Given the description of an element on the screen output the (x, y) to click on. 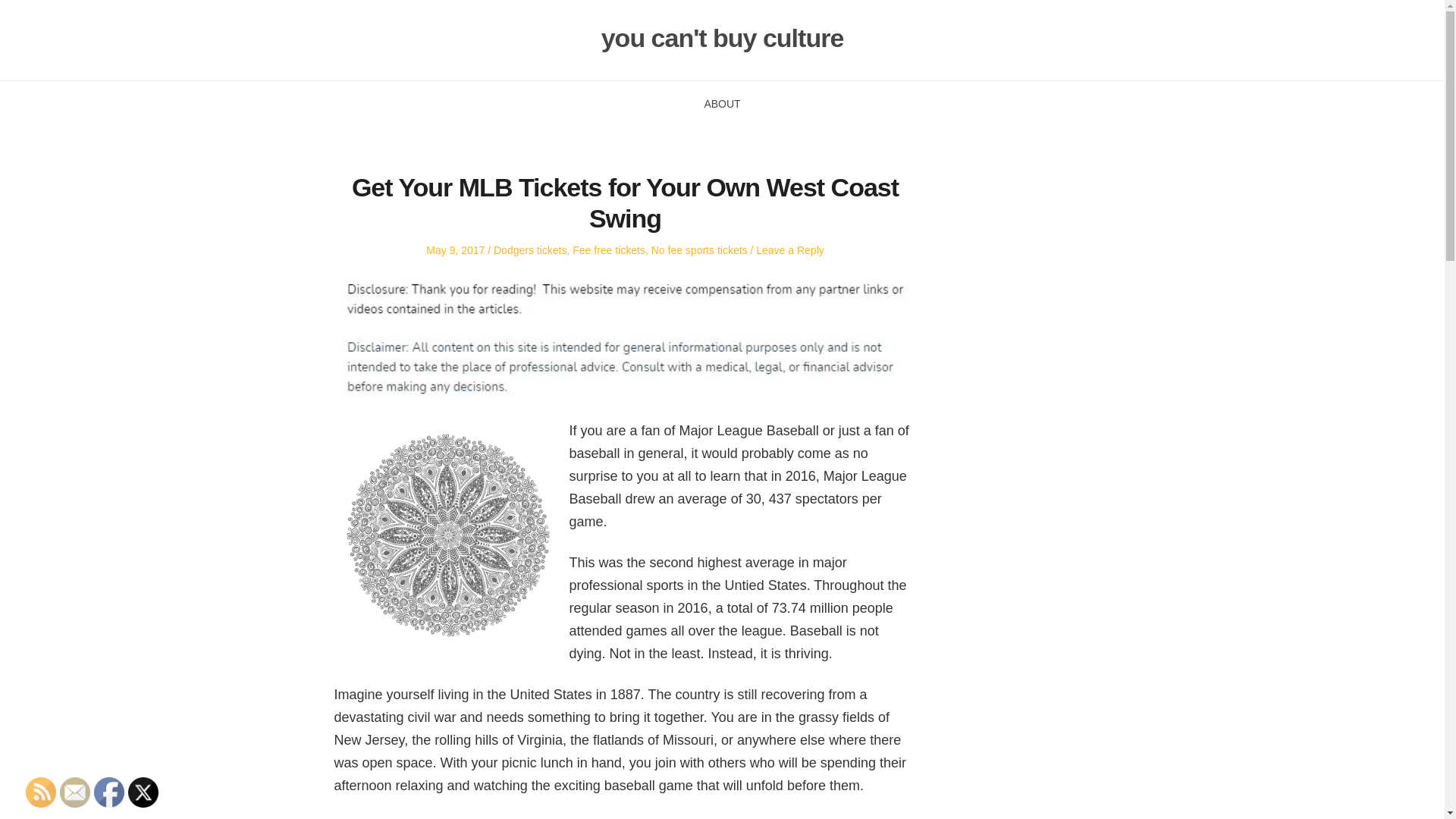
you can't buy culture (722, 38)
Leave a Reply (789, 250)
May 9, 2017 (455, 250)
Facebook (108, 792)
Twitter (143, 792)
Follow by Email (74, 792)
ABOUT (721, 103)
RSS (41, 792)
Dodgers tickets (529, 250)
Fee free tickets (608, 250)
